Given the description of an element on the screen output the (x, y) to click on. 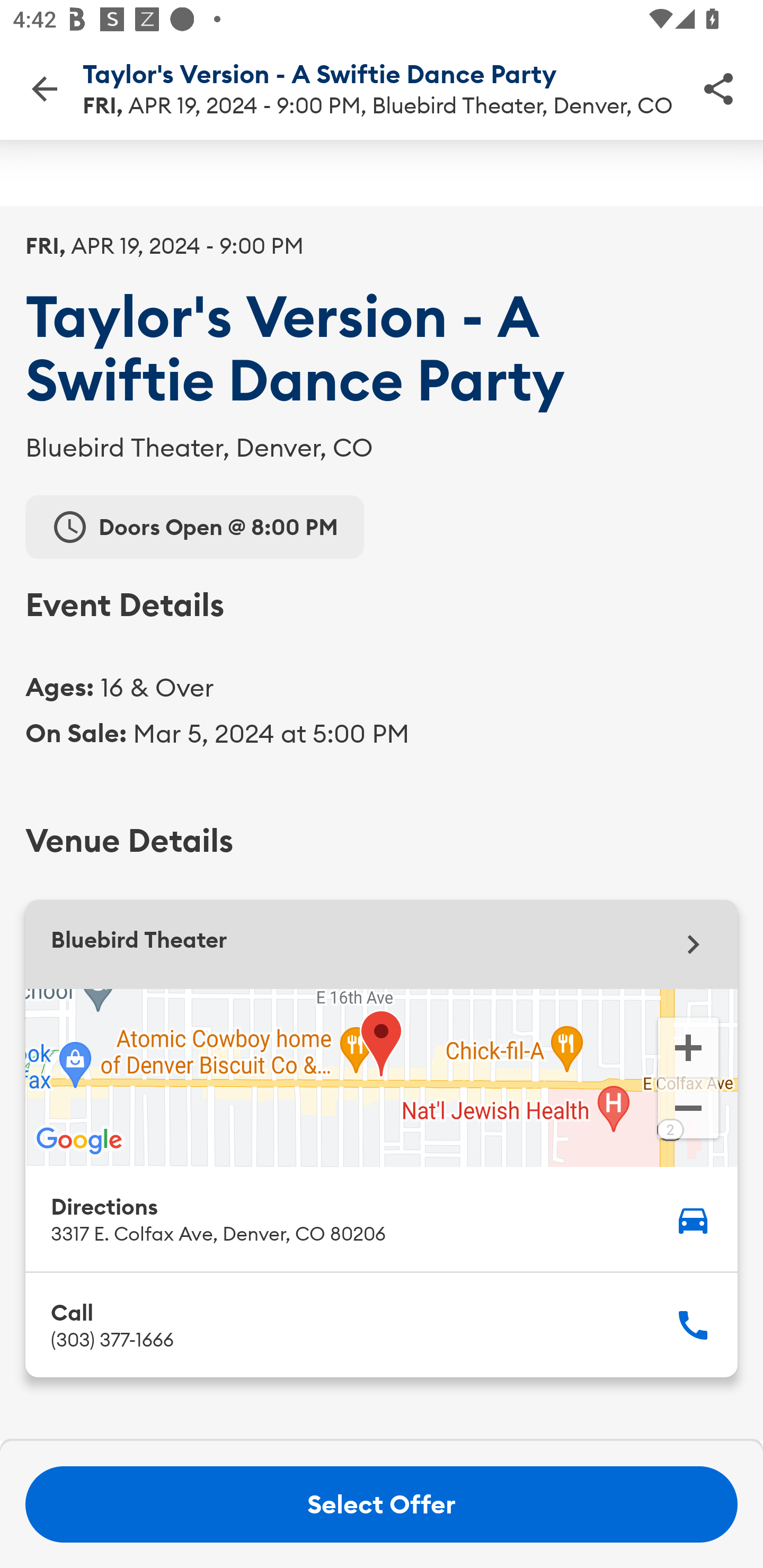
BackButton (44, 88)
Share (718, 88)
Bluebird Theater (381, 944)
Google Map Bluebird Theater.  Zoom in Zoom out (381, 1077)
Zoom in (687, 1046)
Zoom out (687, 1110)
Directions 3317 E. Colfax Ave, Denver, CO 80206 (381, 1218)
Call (303) 377-1666 (381, 1324)
Select Offer (381, 1504)
